Given the description of an element on the screen output the (x, y) to click on. 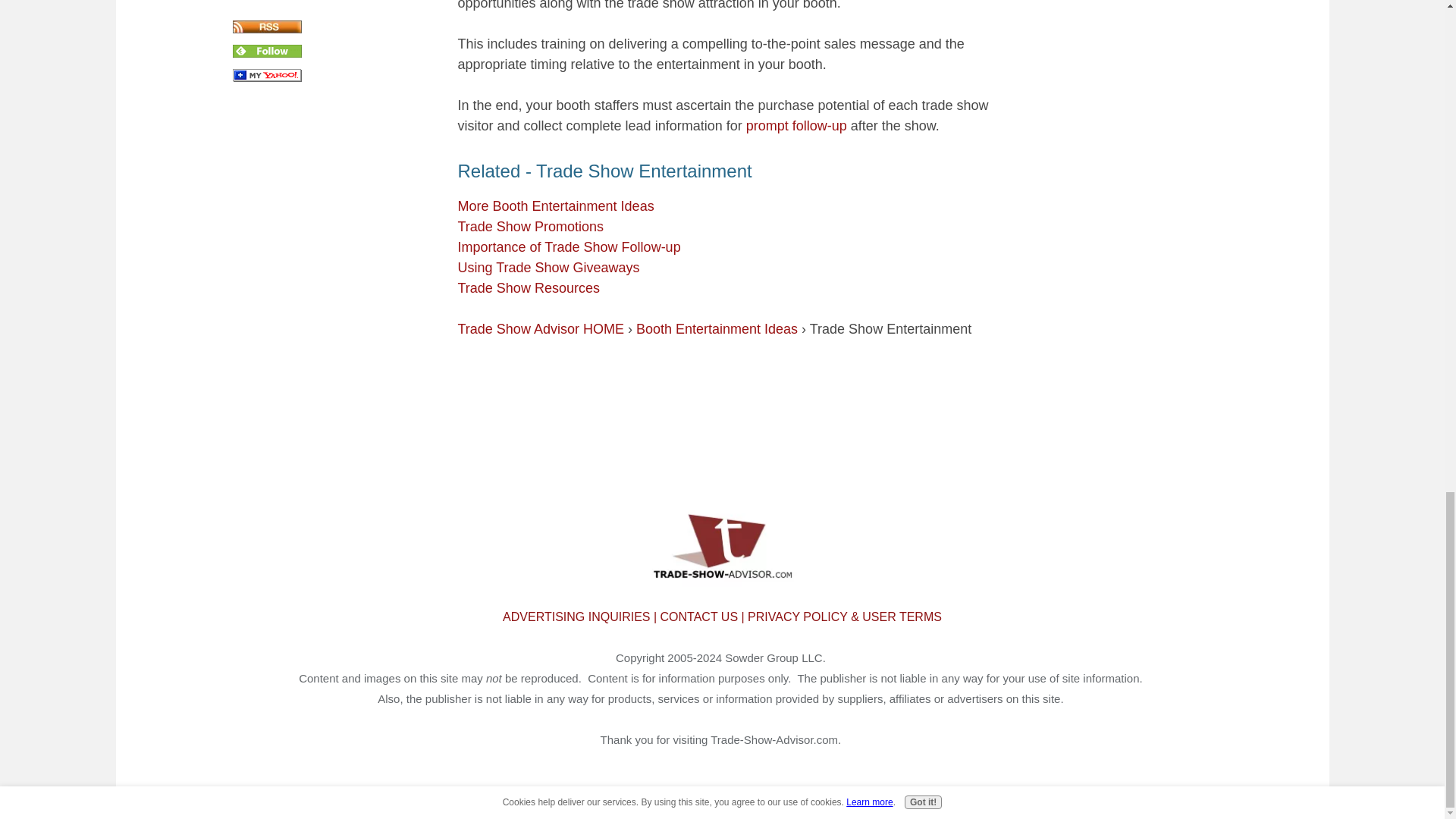
Trade Show Promotions (531, 226)
Using Trade Show Giveaways (549, 267)
Trade Show Resources (528, 287)
Importance of Trade Show Follow-up (569, 246)
Trade Show Advisor HOME (541, 328)
prompt follow-up (796, 125)
More Booth Entertainment Ideas (555, 206)
Booth Entertainment Ideas (716, 328)
